Given the description of an element on the screen output the (x, y) to click on. 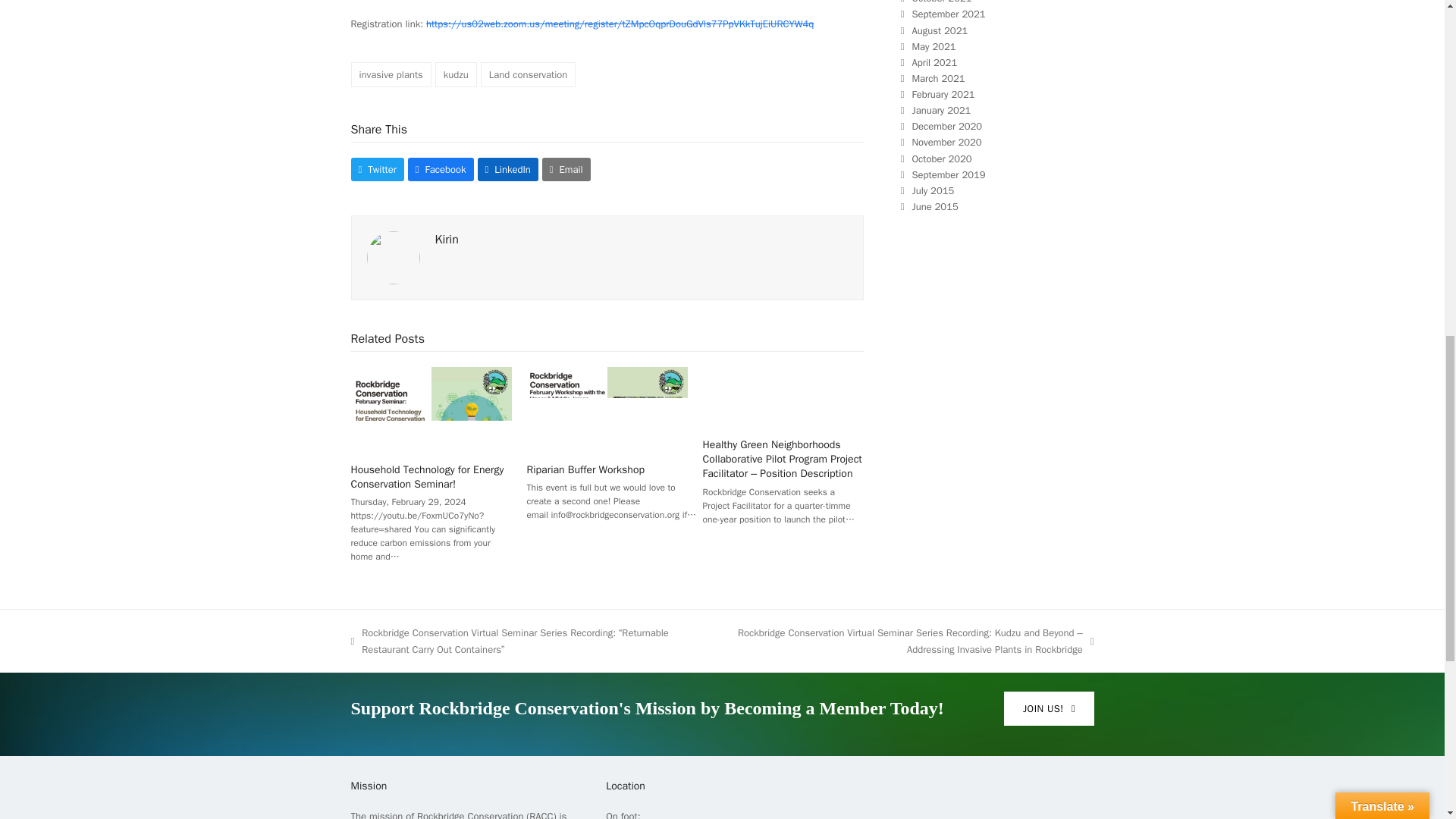
Household Technology for Energy Conservation Seminar! (430, 408)
Riparian Buffer Workshop (607, 408)
Visit Author Page (446, 239)
Visit Author Page (393, 256)
